Given the description of an element on the screen output the (x, y) to click on. 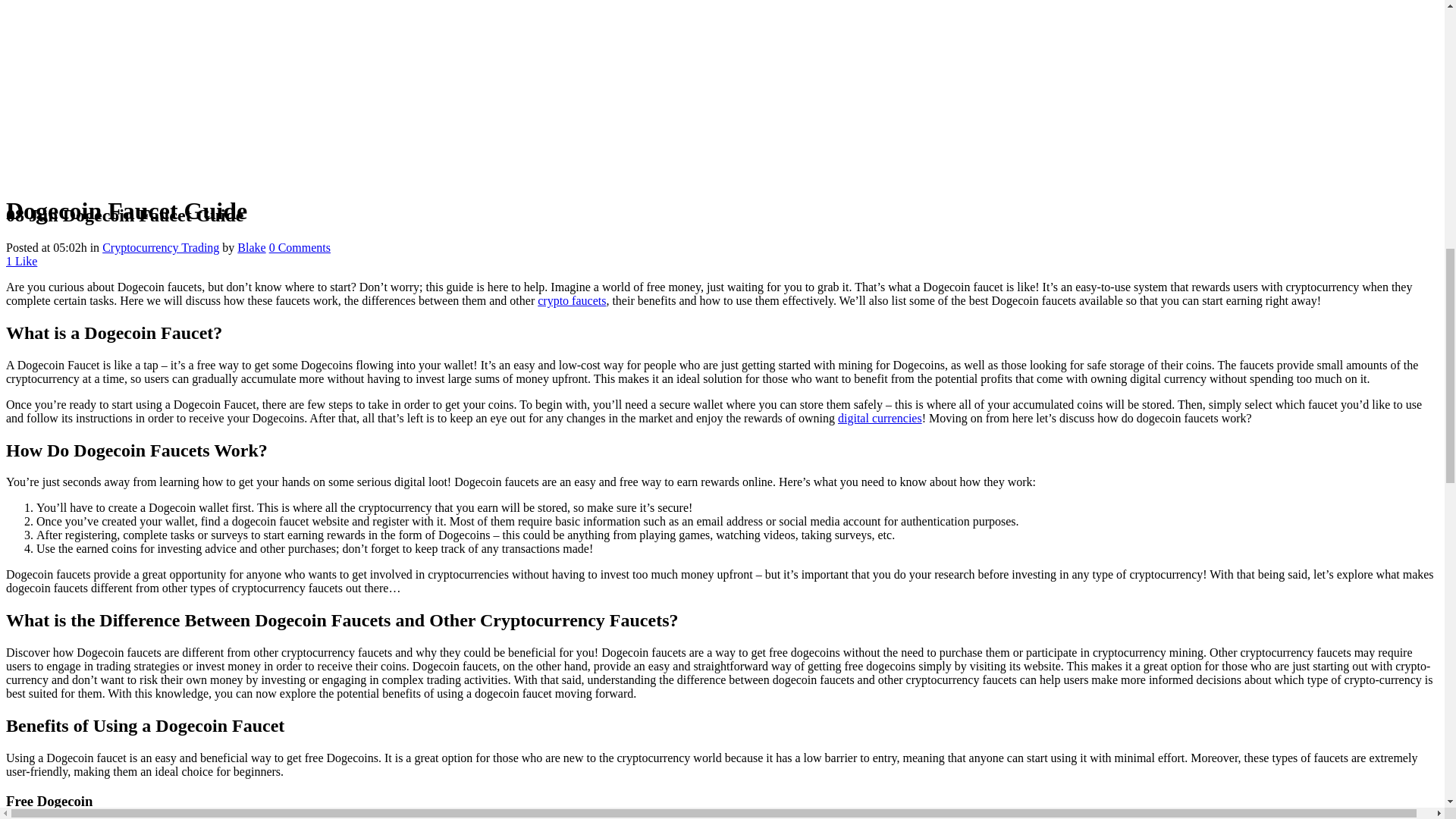
Blake (250, 246)
0 Comments (299, 246)
digital currencies (879, 418)
Like this (21, 260)
crypto faucets (571, 300)
digital currencies (879, 418)
1 Like (21, 260)
crypto faucets (571, 300)
Cryptocurrency Trading (160, 246)
